Given the description of an element on the screen output the (x, y) to click on. 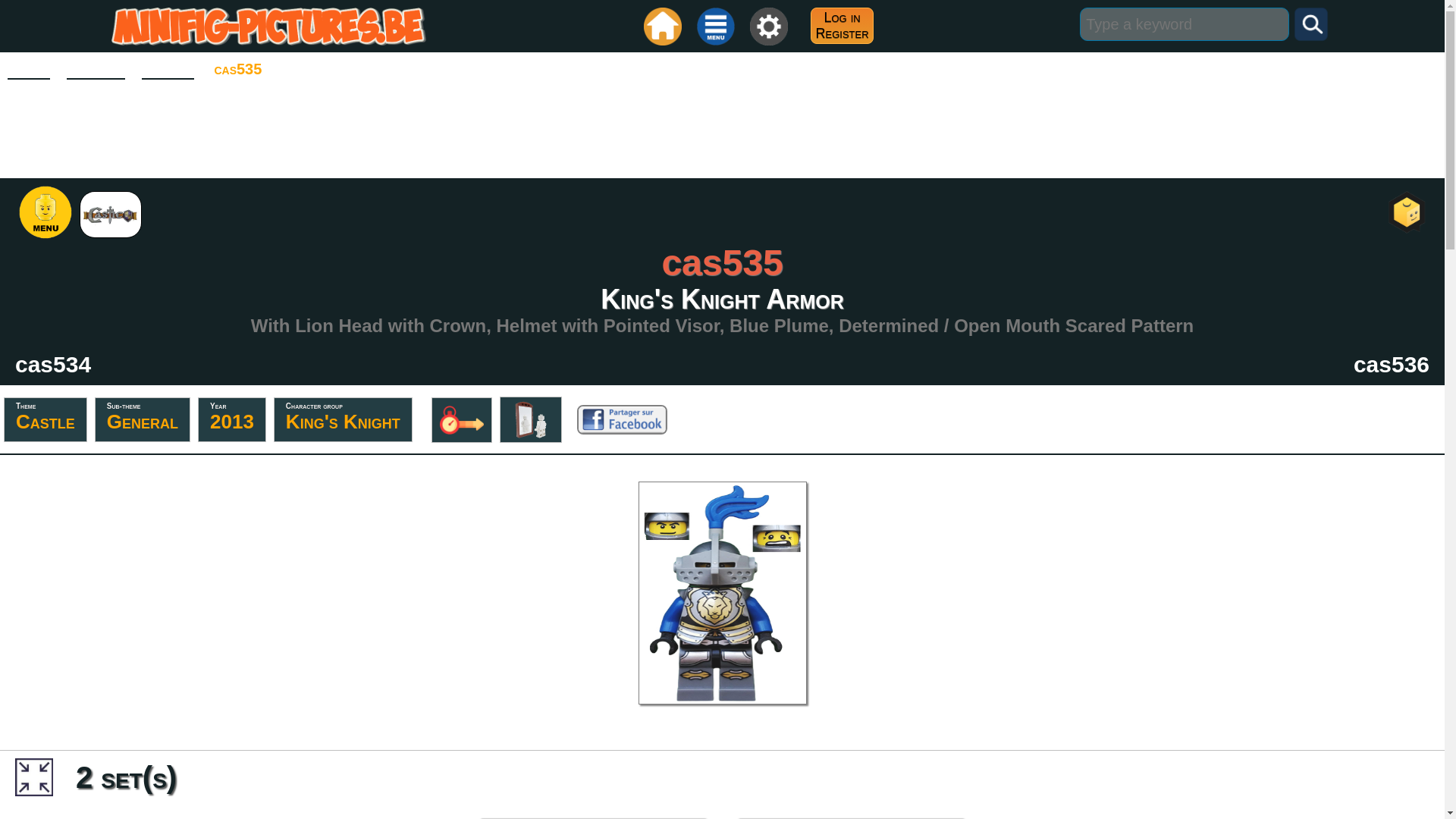
Show all minifigs of the same character (342, 419)
Click to display the previous figurine (231, 419)
Castle (141, 419)
Advertisement (52, 364)
Home (167, 69)
cas534 (721, 128)
Click to display the next figurine (28, 69)
Back to the menu MINIFIGS (837, 27)
Back to the menu minifigs Castle (52, 364)
Minifigs (1391, 364)
